Given the description of an element on the screen output the (x, y) to click on. 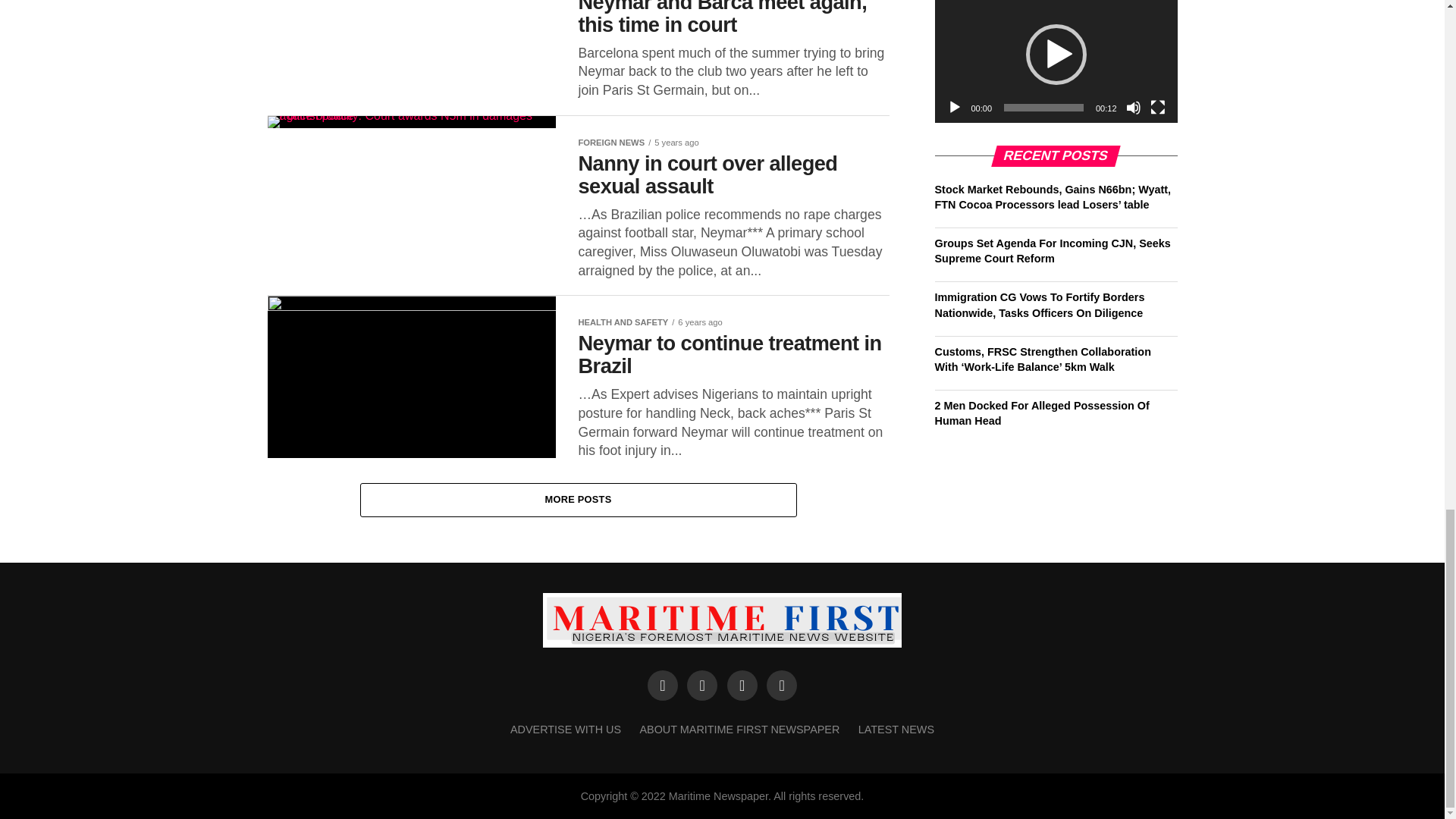
Play (953, 107)
Fullscreen (1157, 107)
Mute (1132, 107)
